Given the description of an element on the screen output the (x, y) to click on. 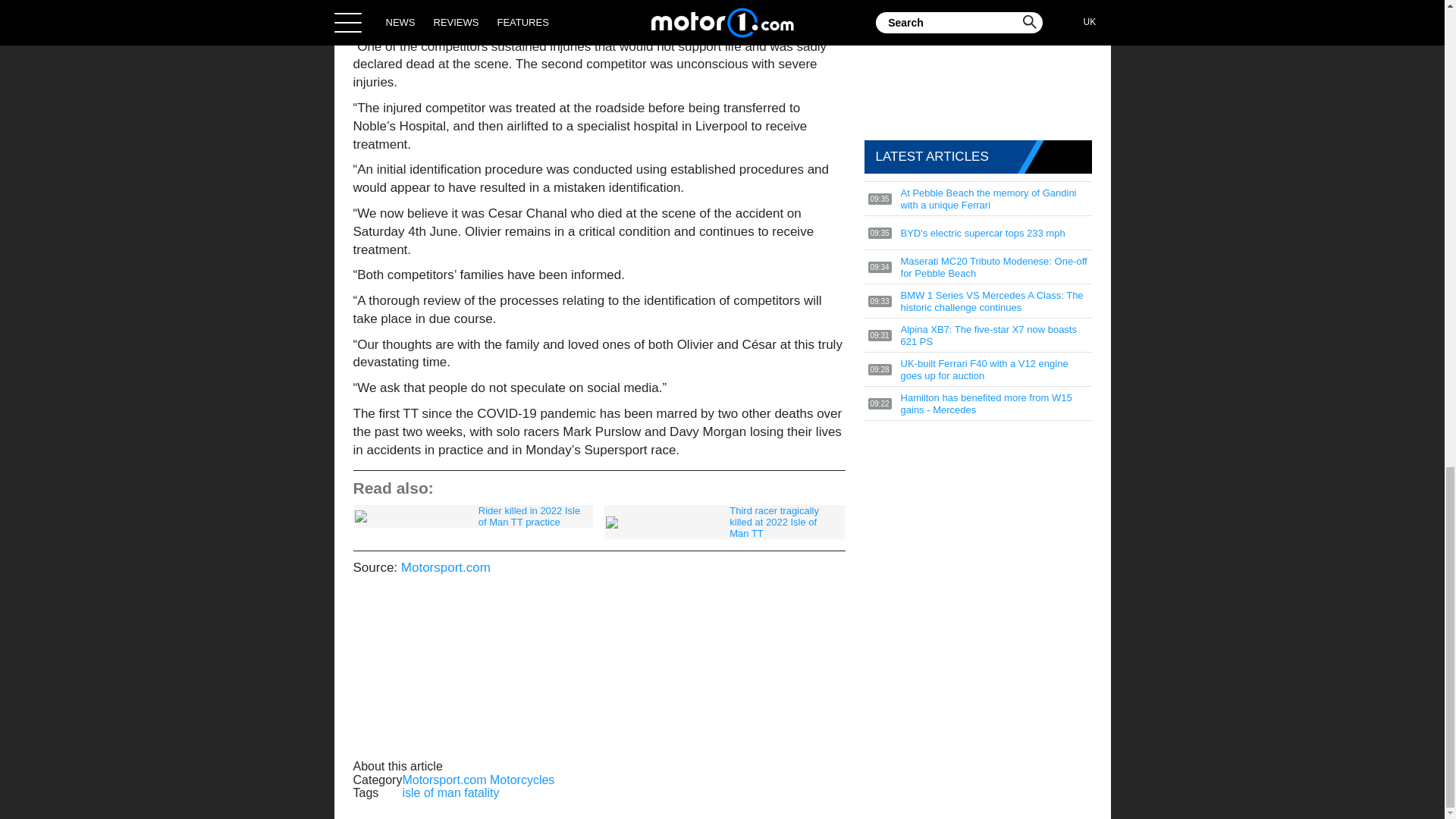
Third racer tragically killed at 2022 Isle of Man TT (724, 521)
Rider killed in 2022 Isle of Man TT practice (473, 516)
Motorsport.com (445, 567)
